Given the description of an element on the screen output the (x, y) to click on. 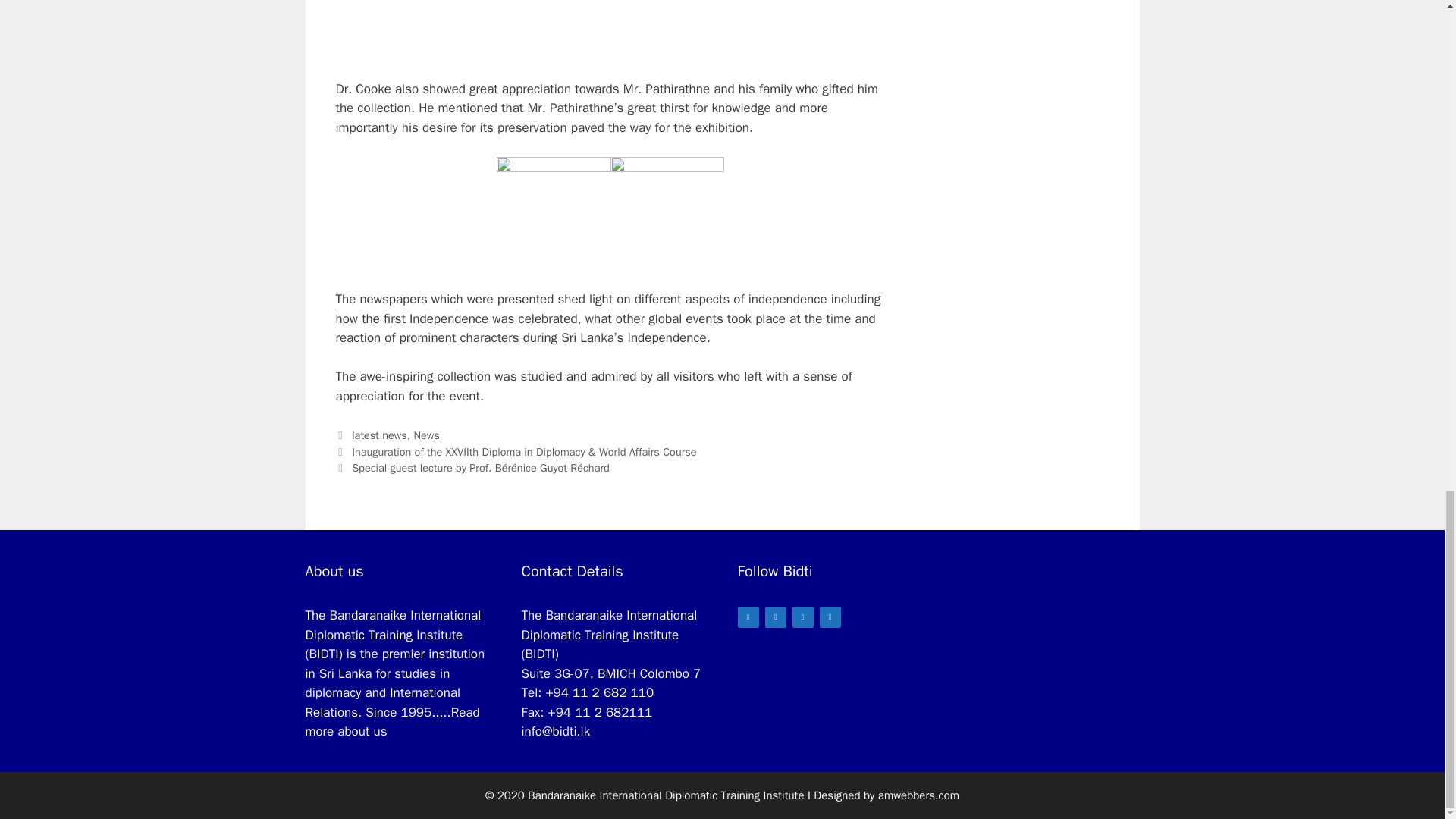
Twitter (747, 617)
YouTube (829, 617)
Facebook (775, 617)
Instagram (802, 617)
Scroll back to top (1406, 296)
